Given the description of an element on the screen output the (x, y) to click on. 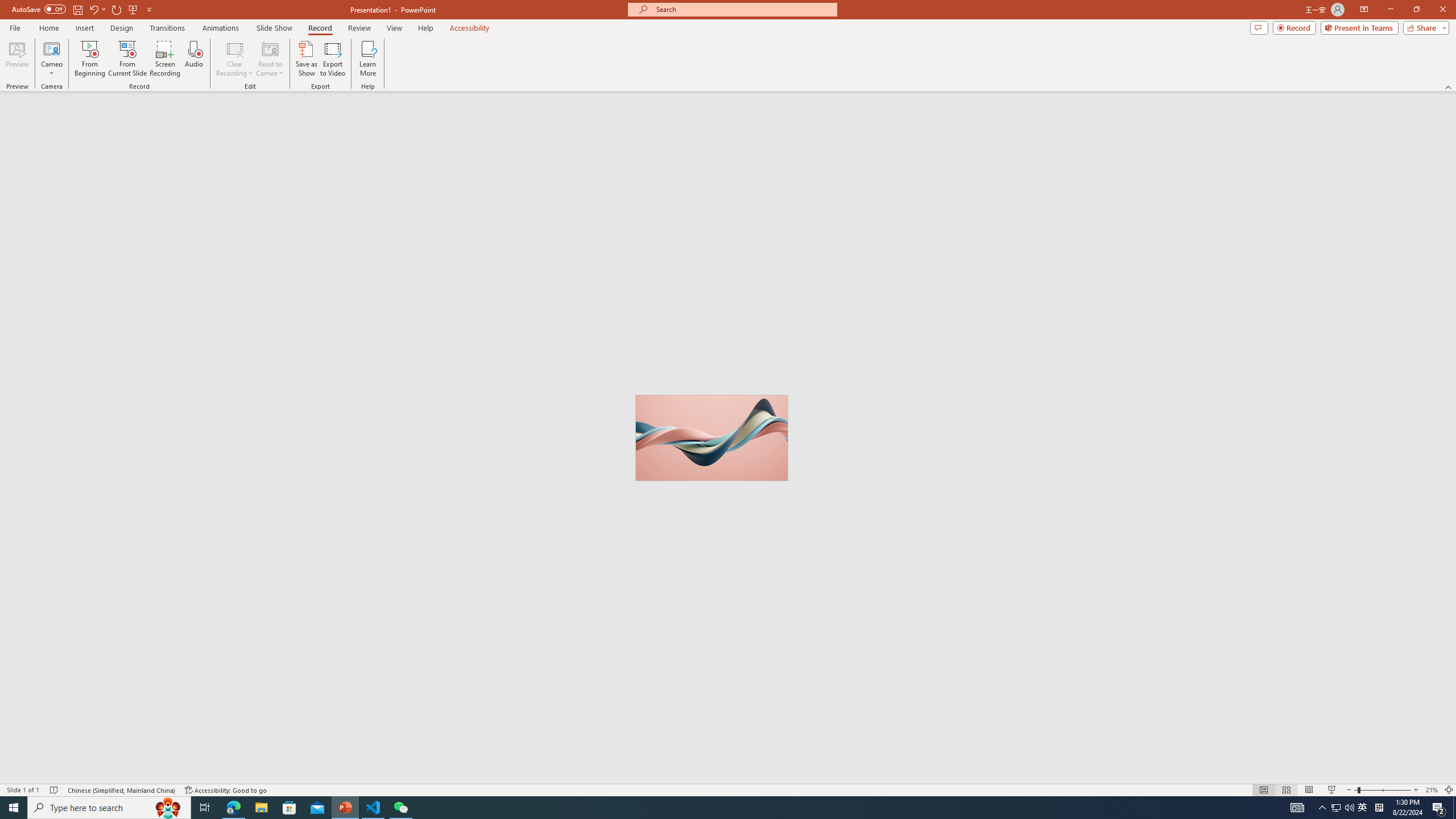
Reset to Cameo (269, 58)
